Given the description of an element on the screen output the (x, y) to click on. 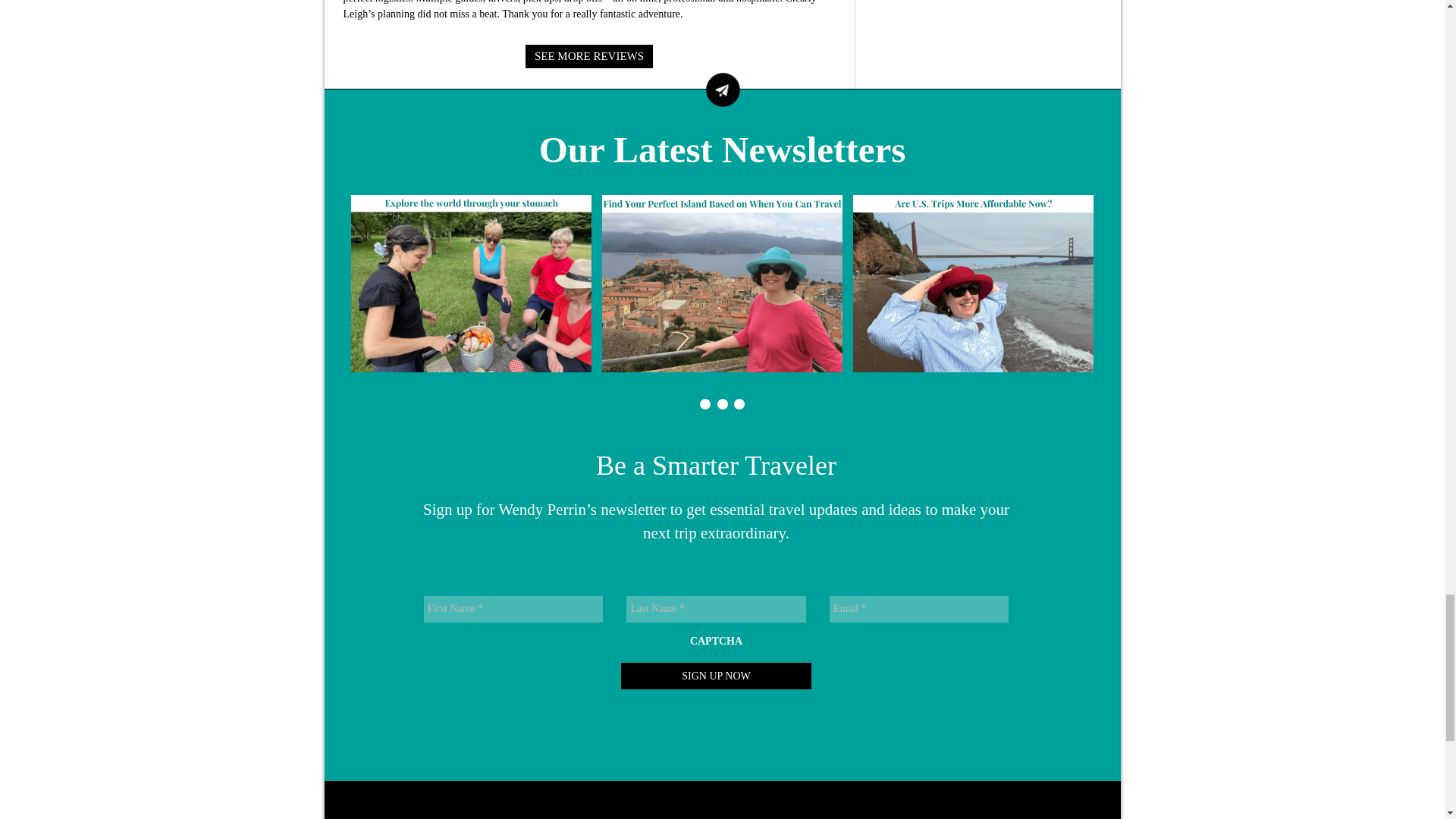
Sign Up Now (715, 675)
